Given the description of an element on the screen output the (x, y) to click on. 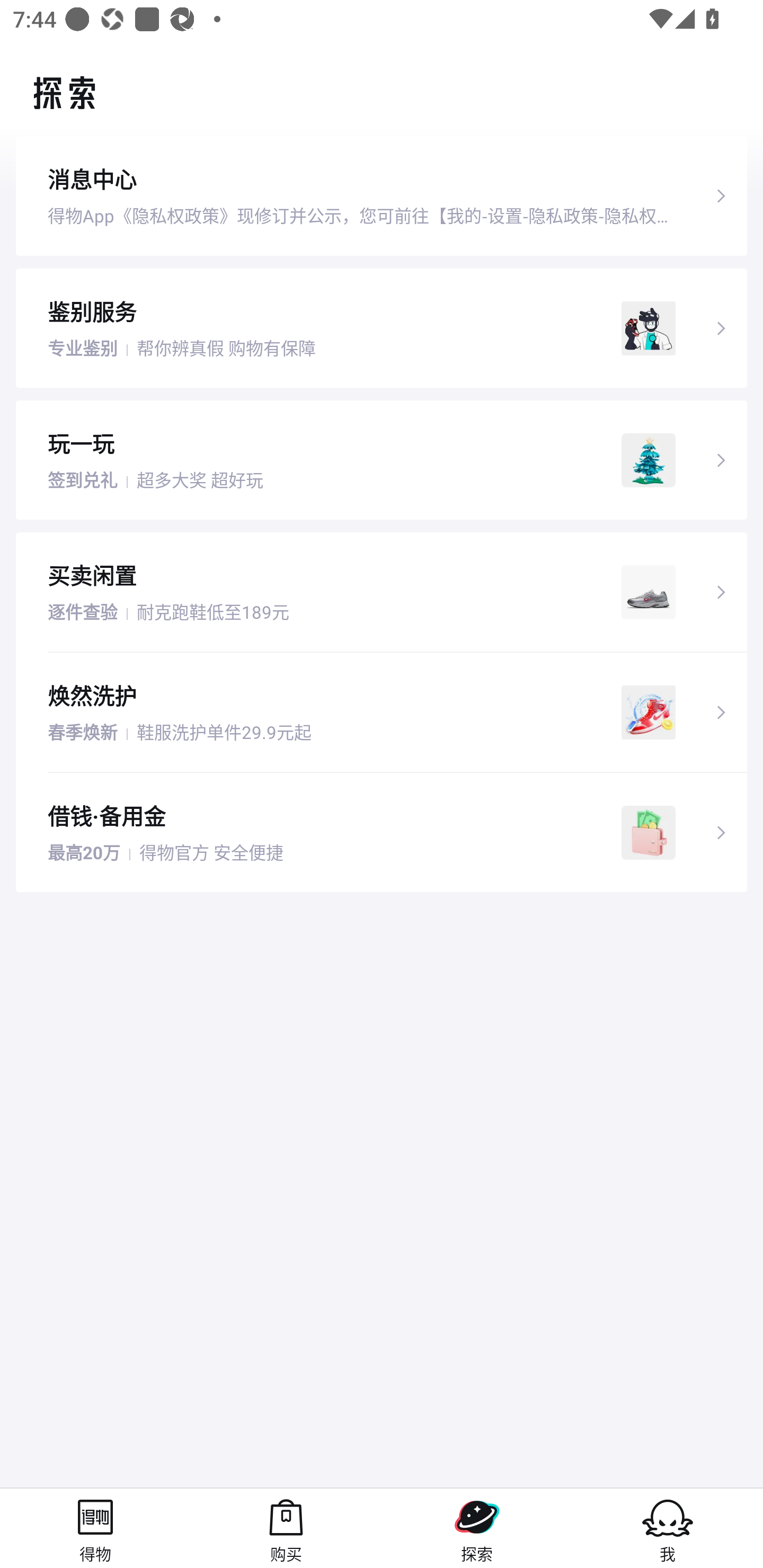
鉴别服务 专业鉴别 丨 帮你辨真假 购物有保障 (381, 327)
玩一玩 签到兑礼 丨 超多大奖 超好玩 (381, 459)
买卖闲置 逐件查验 丨 耐克跑鞋低至189元 (381, 592)
焕然洗护 春季焕新 丨 鞋服洗护单件29.9元起 (381, 711)
借钱·备用金 最高20万 丨 得物官方 安全便捷 (381, 832)
得物 (95, 1528)
购买 (285, 1528)
探索 (476, 1528)
我 (667, 1528)
